Given the description of an element on the screen output the (x, y) to click on. 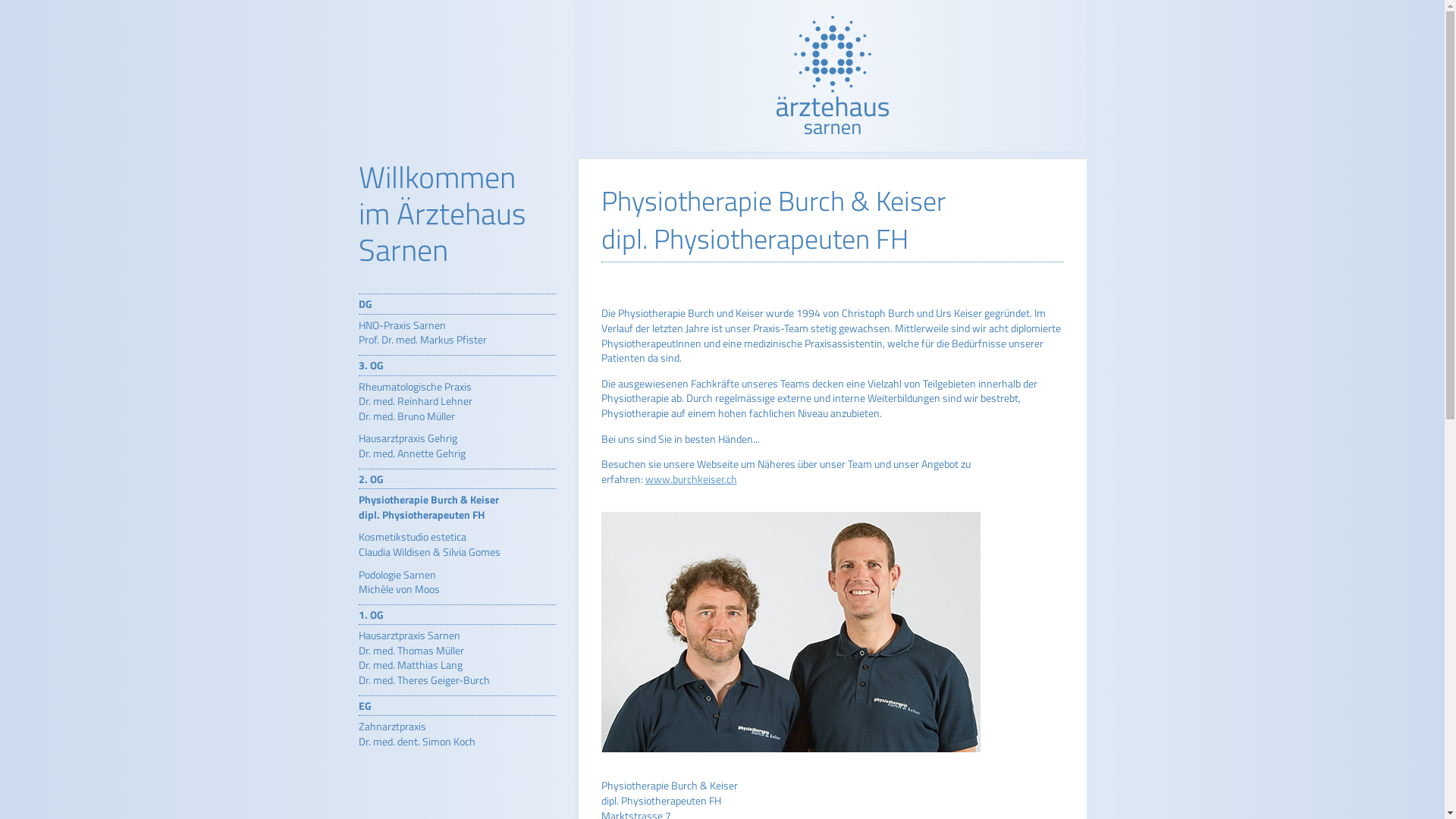
Zahnarztpraxis
Dr. med. dent. Simon Koch Element type: text (415, 733)
Kosmetikstudio estetica
Claudia Wildisen & Silvia Gomes Element type: text (428, 543)
Hausarztpraxis Gehrig
Dr. med. Annette Gehrig Element type: text (410, 445)
HNO-Praxis Sarnen
Prof. Dr. med. Markus Pfister Element type: text (421, 332)
Physiotherapie Burch & Keiser
dipl. Physiotherapeuten FH Element type: text (427, 506)
www.burchkeiser.ch Element type: text (690, 478)
